Given the description of an element on the screen output the (x, y) to click on. 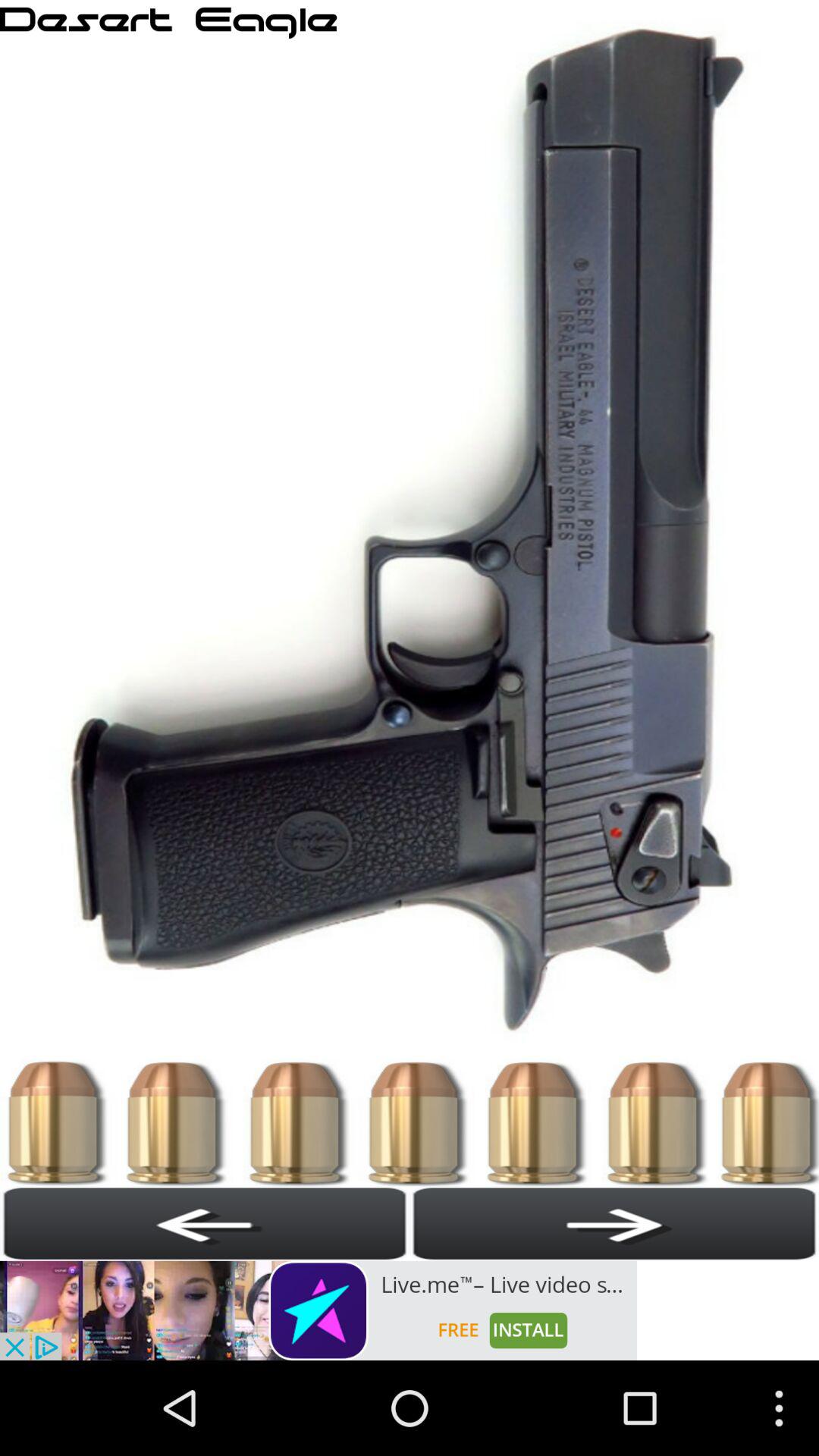
go back (204, 1223)
